Given the description of an element on the screen output the (x, y) to click on. 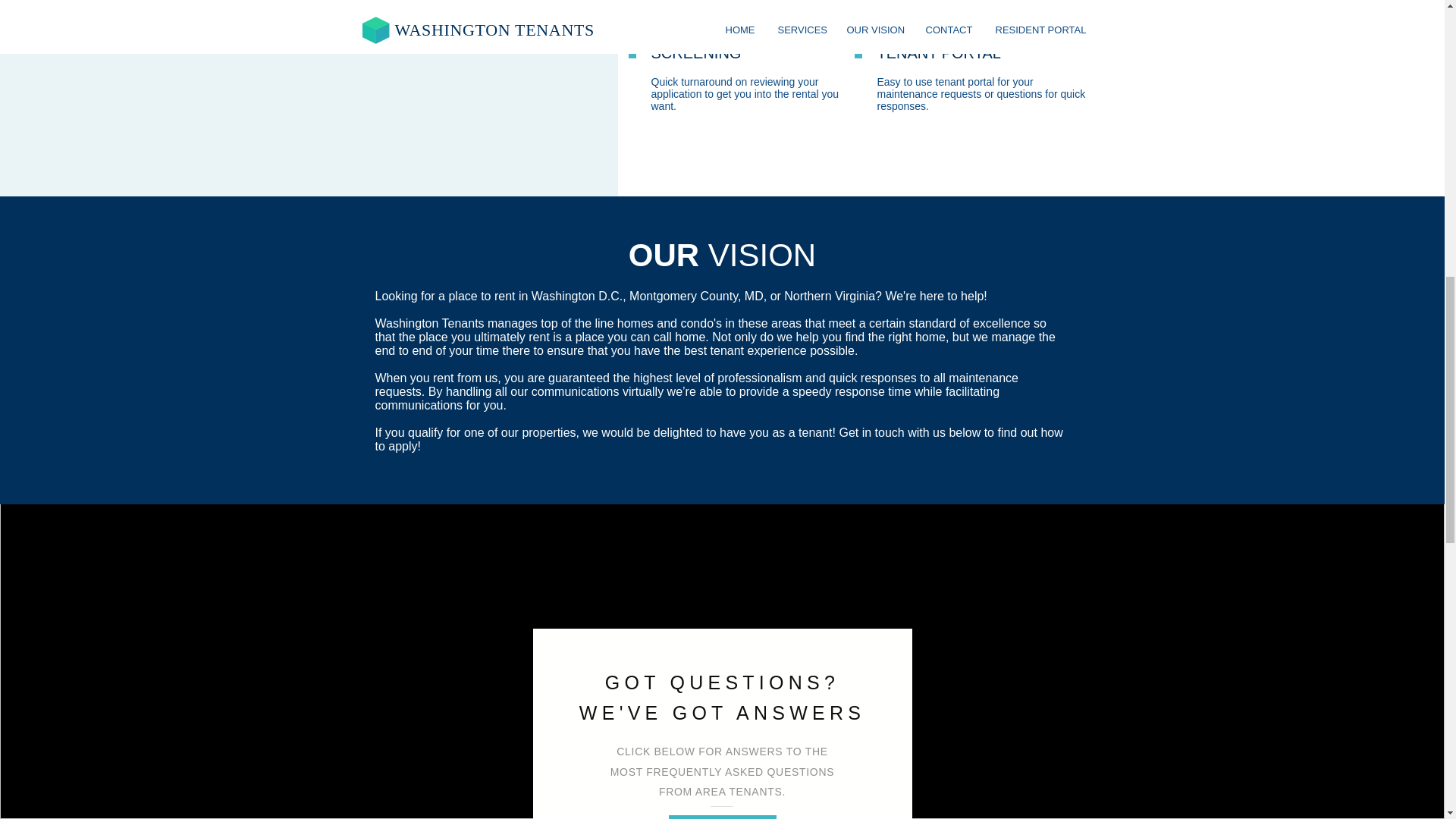
READ MORE (722, 816)
